Given the description of an element on the screen output the (x, y) to click on. 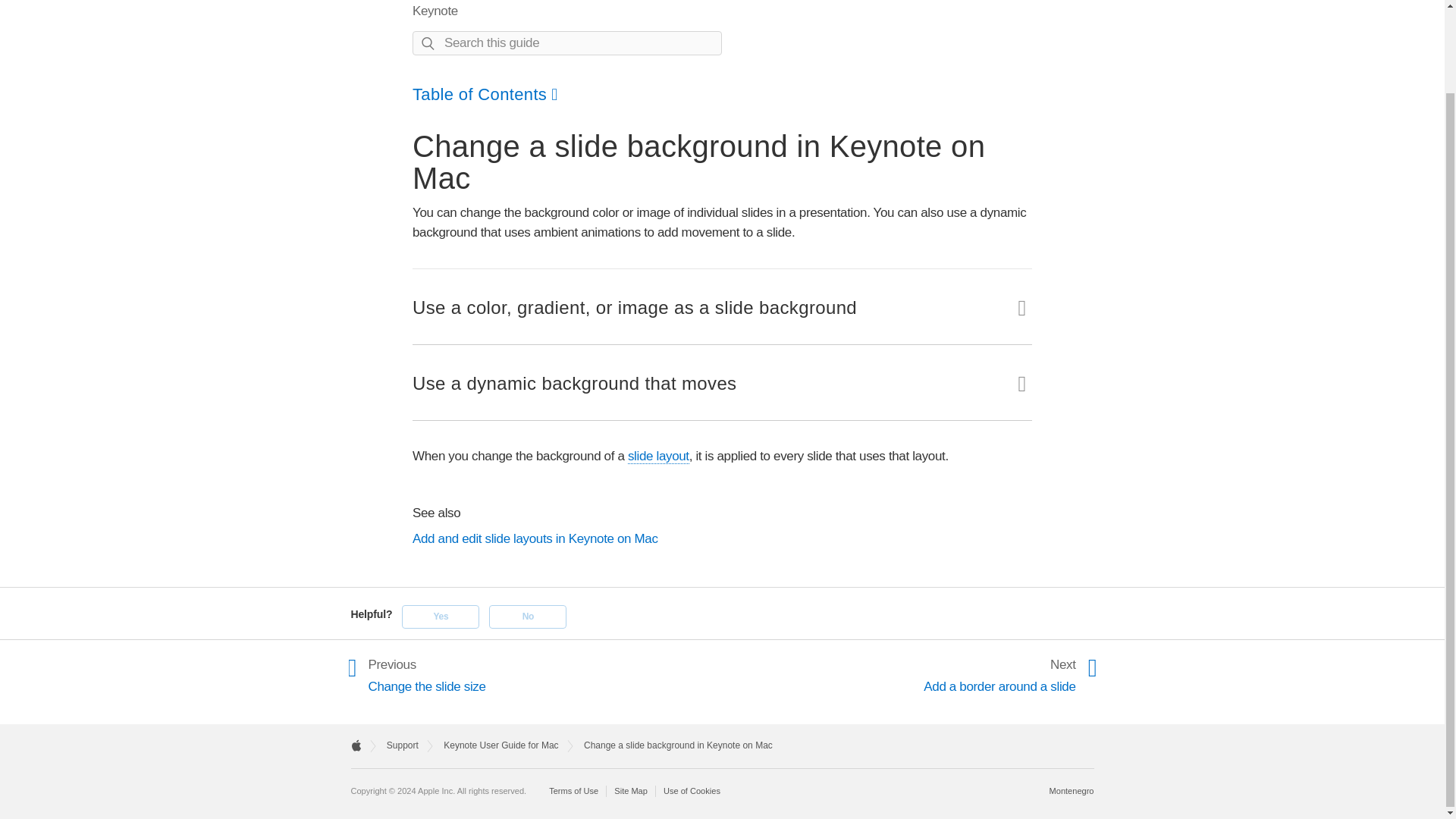
Solved my problem (440, 616)
Choose your country or region (1071, 790)
Not helpful (527, 616)
